Given the description of an element on the screen output the (x, y) to click on. 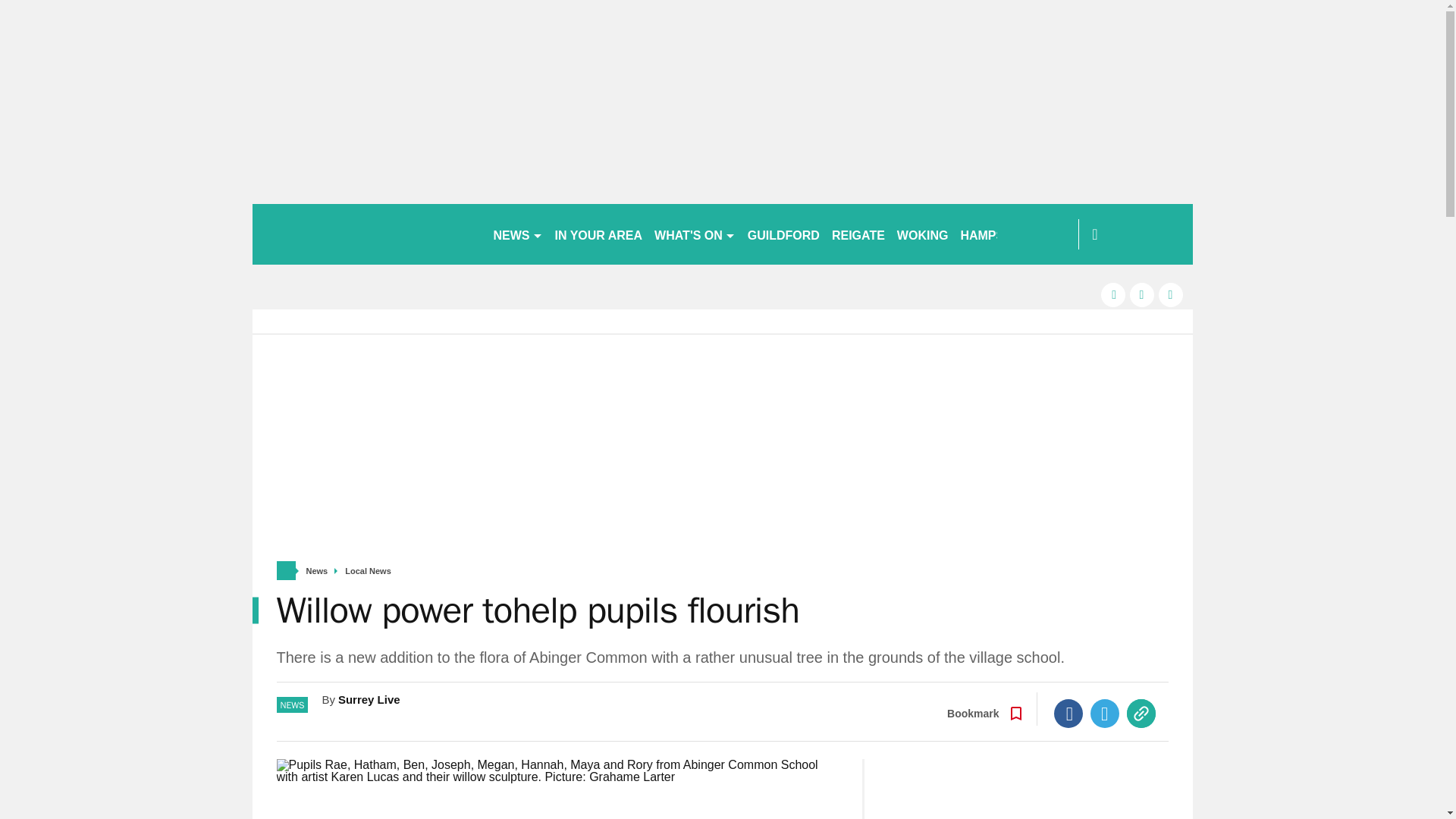
NEWS (517, 233)
WOKING (923, 233)
Facebook (1068, 713)
WHAT'S ON (694, 233)
Twitter (1104, 713)
facebook (1112, 294)
IN YOUR AREA (598, 233)
twitter (1141, 294)
getsurrey (365, 233)
HAMPSHIRE (996, 233)
